Given the description of an element on the screen output the (x, y) to click on. 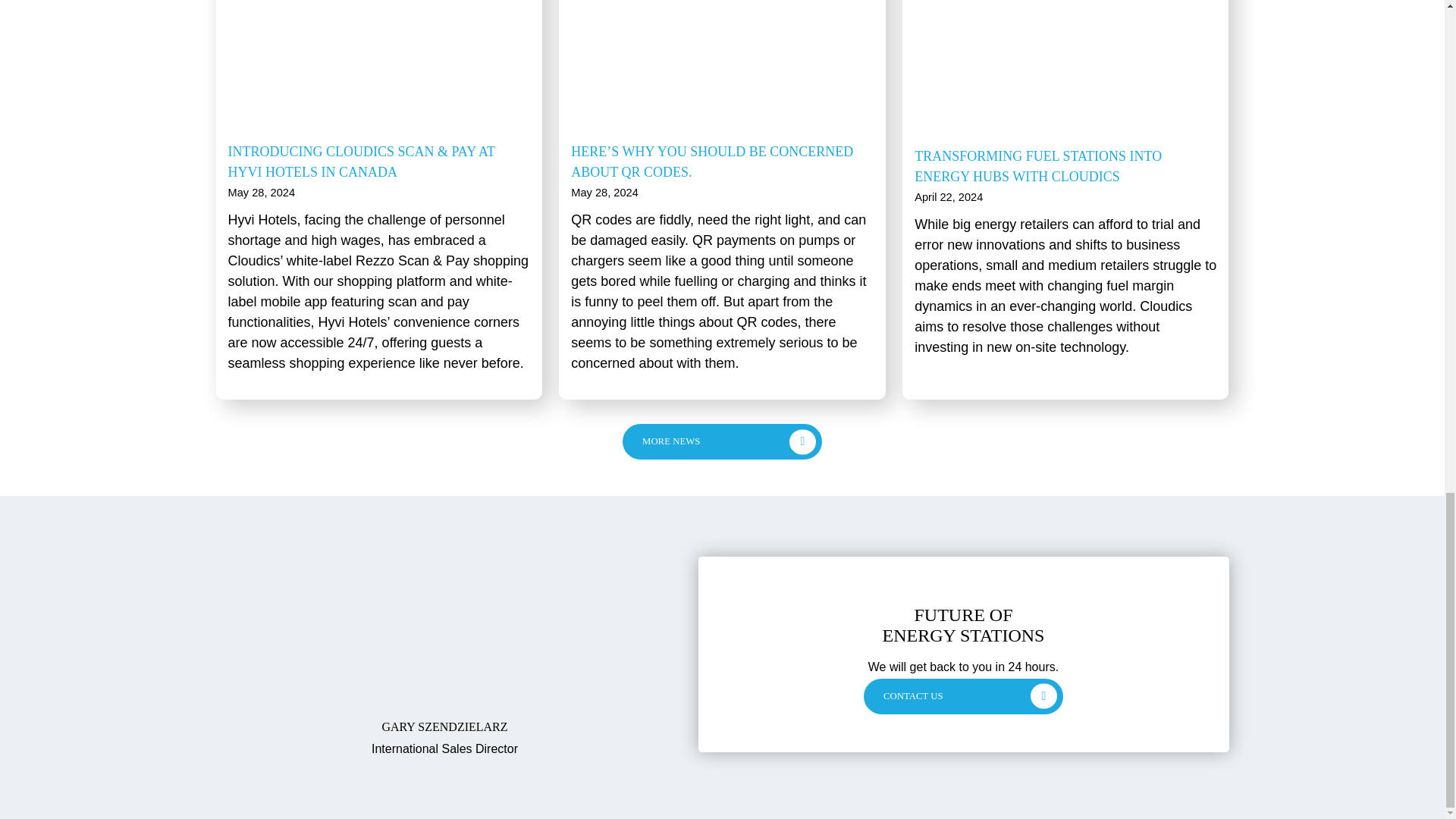
MORE NEWS (722, 441)
TRANSFORMING FUEL STATIONS INTO ENERGY HUBS WITH CLOUDICS (1037, 166)
CONTACT US (962, 696)
